Given the description of an element on the screen output the (x, y) to click on. 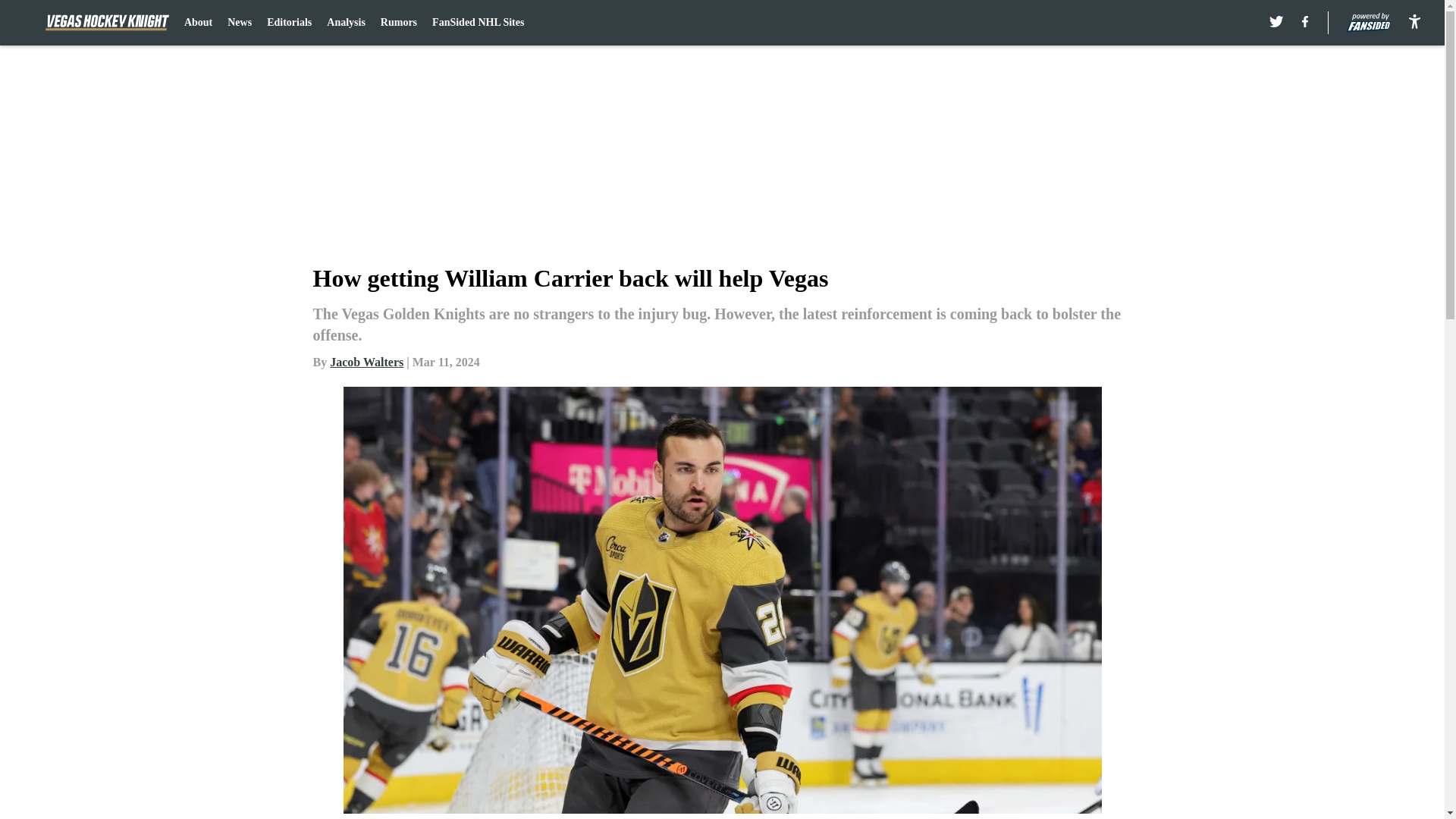
Rumors (398, 22)
About (198, 22)
News (239, 22)
Analysis (345, 22)
FanSided NHL Sites (478, 22)
Jacob Walters (366, 361)
Editorials (288, 22)
